Given the description of an element on the screen output the (x, y) to click on. 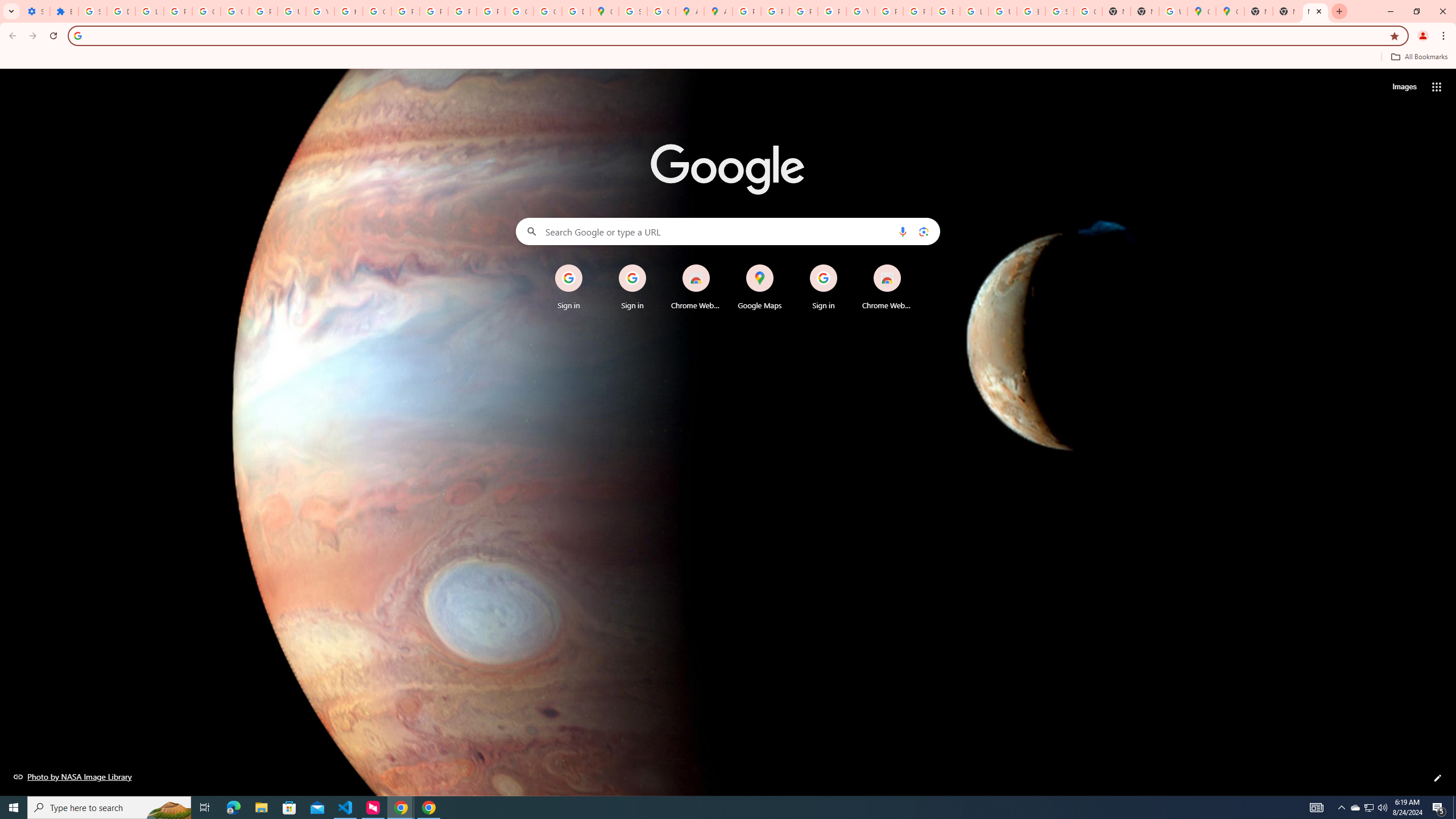
Sign in - Google Accounts (92, 11)
Use Google Maps in Space - Google Maps Help (1173, 11)
Minimize (1390, 11)
Remove (909, 265)
https://scholar.google.com/ (348, 11)
Reload (52, 35)
Sign in - Google Accounts (632, 11)
Google Maps (1230, 11)
Address and search bar (735, 35)
Google Account Help (234, 11)
New Tab (1144, 11)
